Given the description of an element on the screen output the (x, y) to click on. 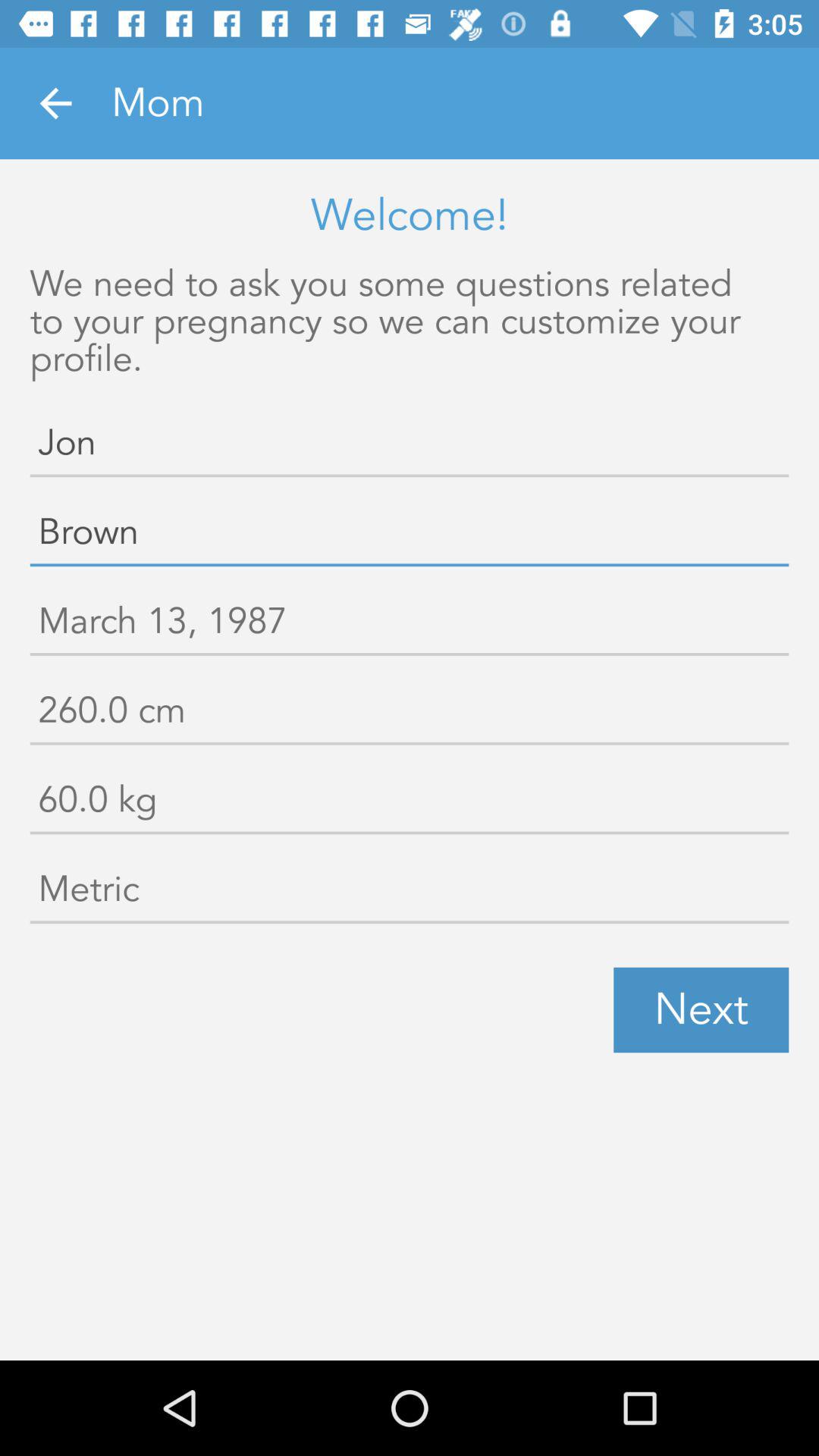
press icon above the we need to icon (55, 103)
